Given the description of an element on the screen output the (x, y) to click on. 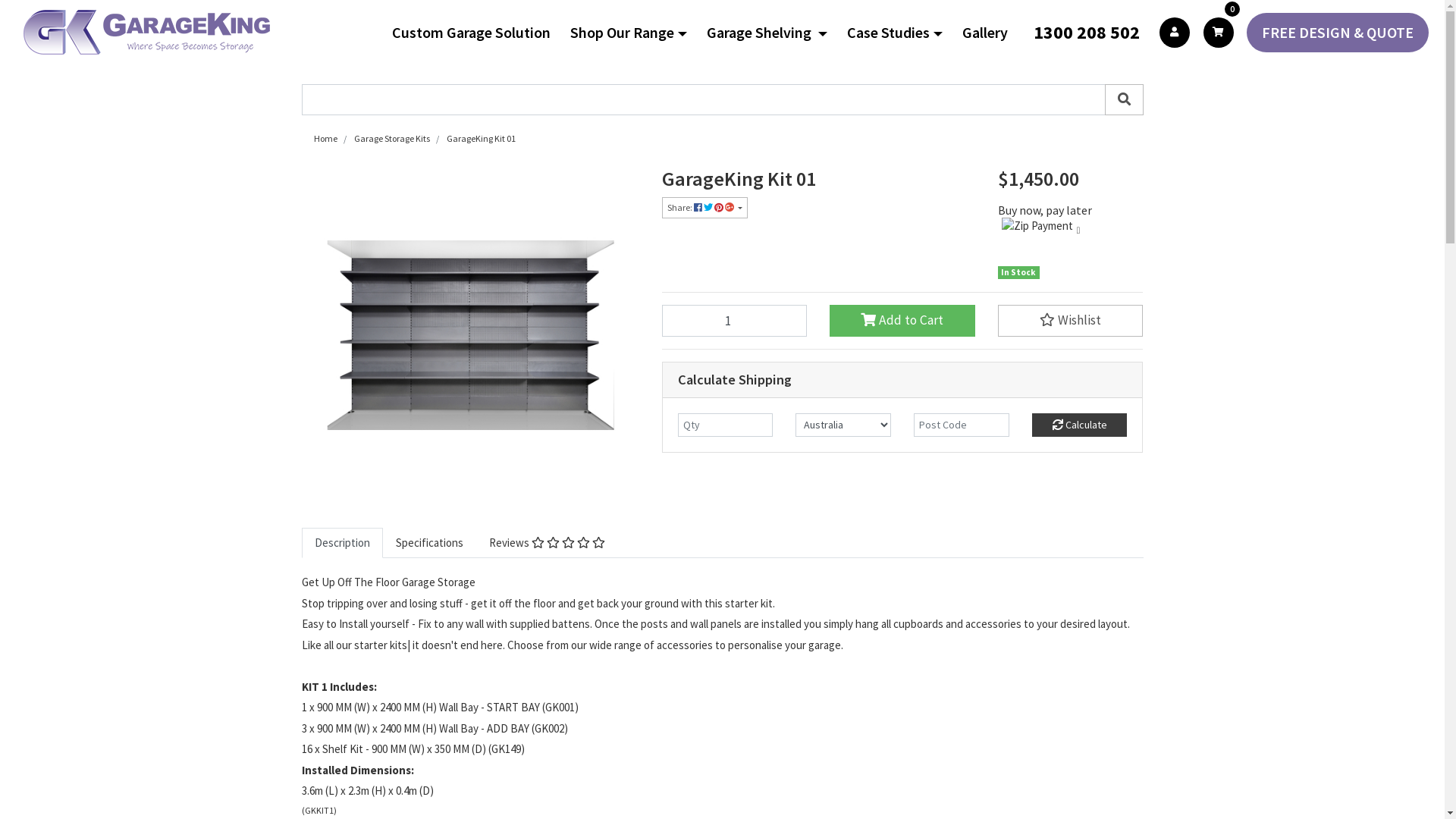
GarageKing Pty Ltd Element type: hover (146, 32)
0 Element type: text (1218, 31)
Shop Our Range Element type: text (634, 32)
Specifications Element type: text (428, 542)
Case Studies Element type: text (900, 32)
Share: Element type: text (703, 207)
Description Element type: text (341, 542)
Garage Storage Kits Element type: text (391, 138)
Garage Shelving Element type: text (772, 32)
Search Element type: text (1123, 99)
Gallery Element type: text (990, 32)
Custom Garage Solution Element type: text (477, 32)
Calculate Element type: text (1079, 424)
1300 208 502 Element type: text (1089, 31)
FREE DESIGN & QUOTE Element type: text (1337, 31)
Wishlist Element type: text (1070, 319)
GarageKing Kit 01 Element type: text (479, 138)
Reviews Element type: text (547, 542)
Home Element type: text (325, 138)
Add to Cart Element type: text (902, 319)
